Given the description of an element on the screen output the (x, y) to click on. 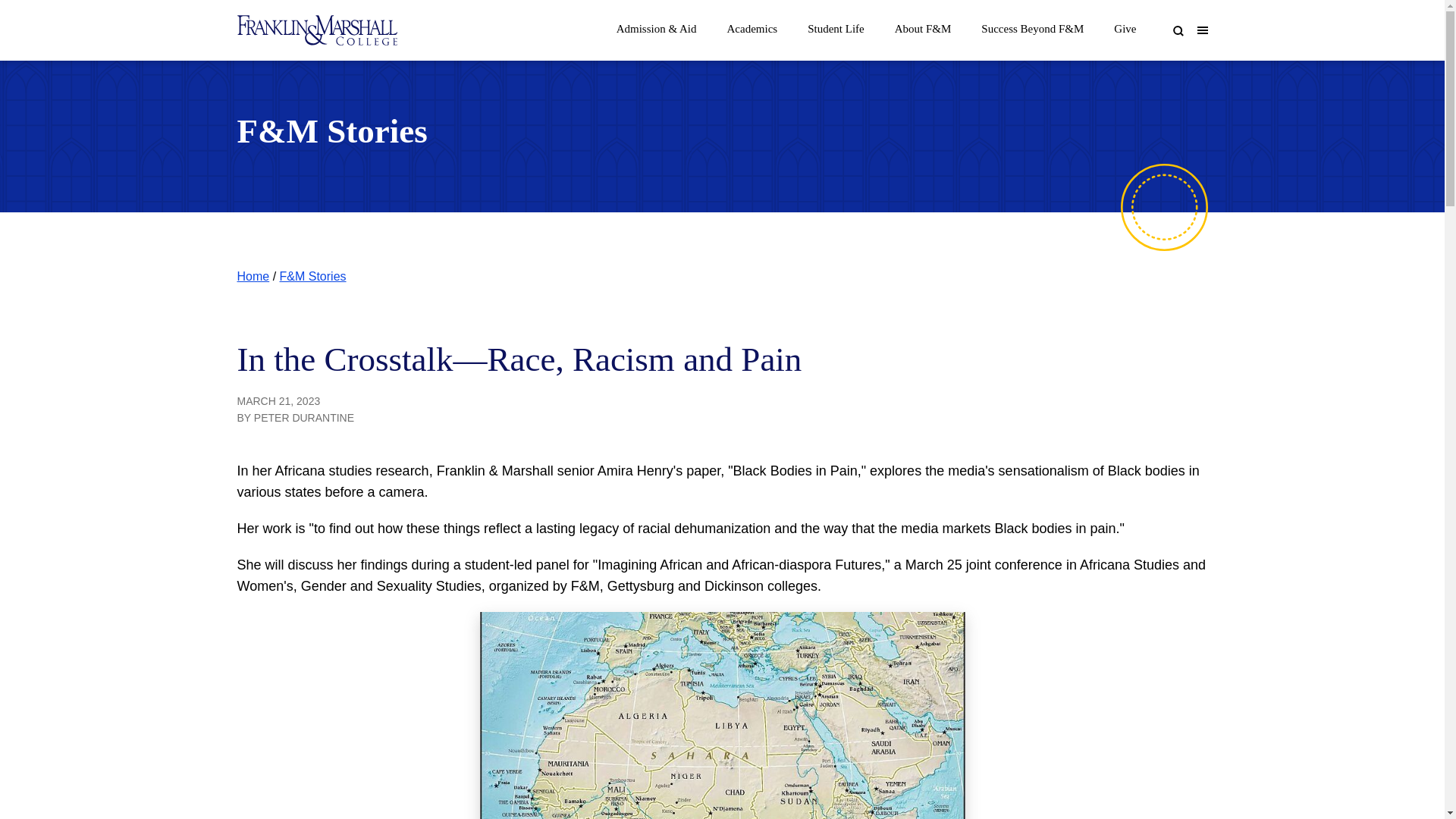
Academics (751, 24)
Student Life (836, 24)
